Given the description of an element on the screen output the (x, y) to click on. 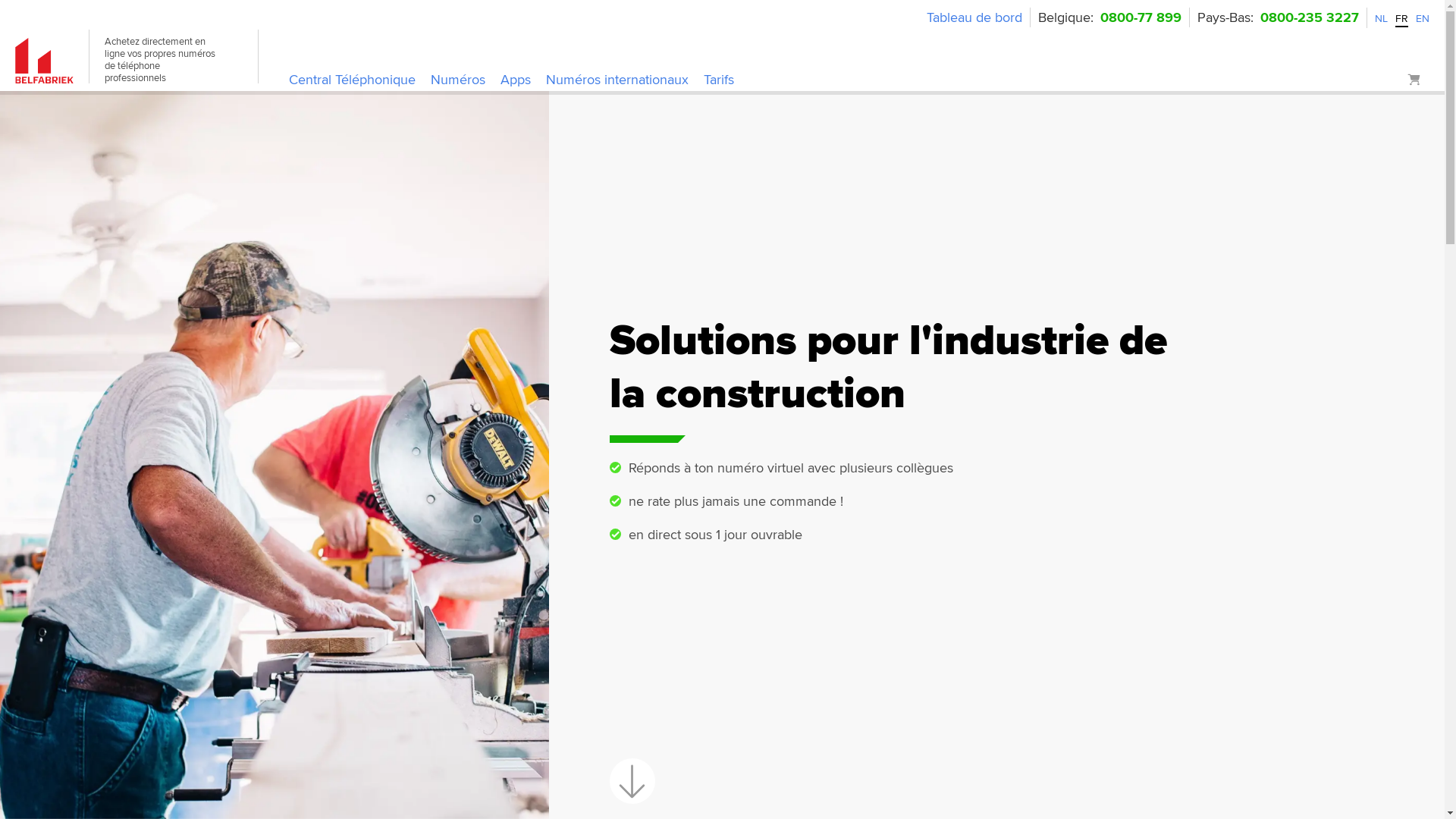
EN Element type: text (1422, 18)
Apps Element type: text (515, 80)
Tarifs Element type: text (718, 80)
Tableau de bord Element type: text (974, 17)
FR Element type: text (1401, 18)
NL Element type: text (1380, 18)
